Given the description of an element on the screen output the (x, y) to click on. 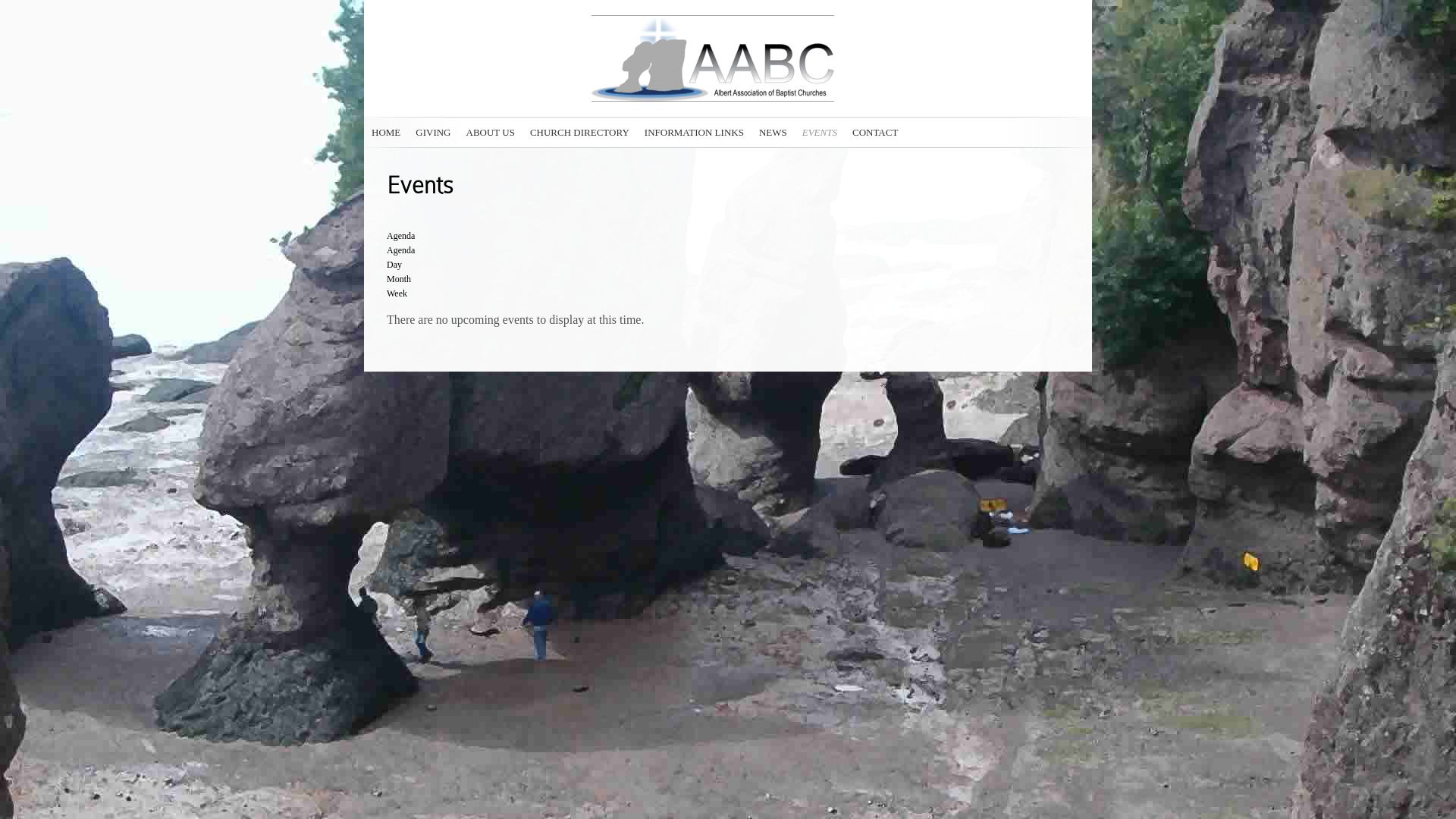
NEWS Element type: text (773, 132)
GIVING Element type: text (432, 132)
Agenda Element type: text (400, 249)
CHURCH DIRECTORY Element type: text (579, 132)
EVENTS Element type: text (819, 132)
Month Element type: text (398, 278)
HOME Element type: text (385, 132)
Week Element type: text (396, 293)
INFORMATION LINKS Element type: text (693, 132)
Day Element type: text (393, 264)
ABOUT US Element type: text (489, 132)
CONTACT Element type: text (874, 132)
Agenda Element type: text (400, 235)
